Given the description of an element on the screen output the (x, y) to click on. 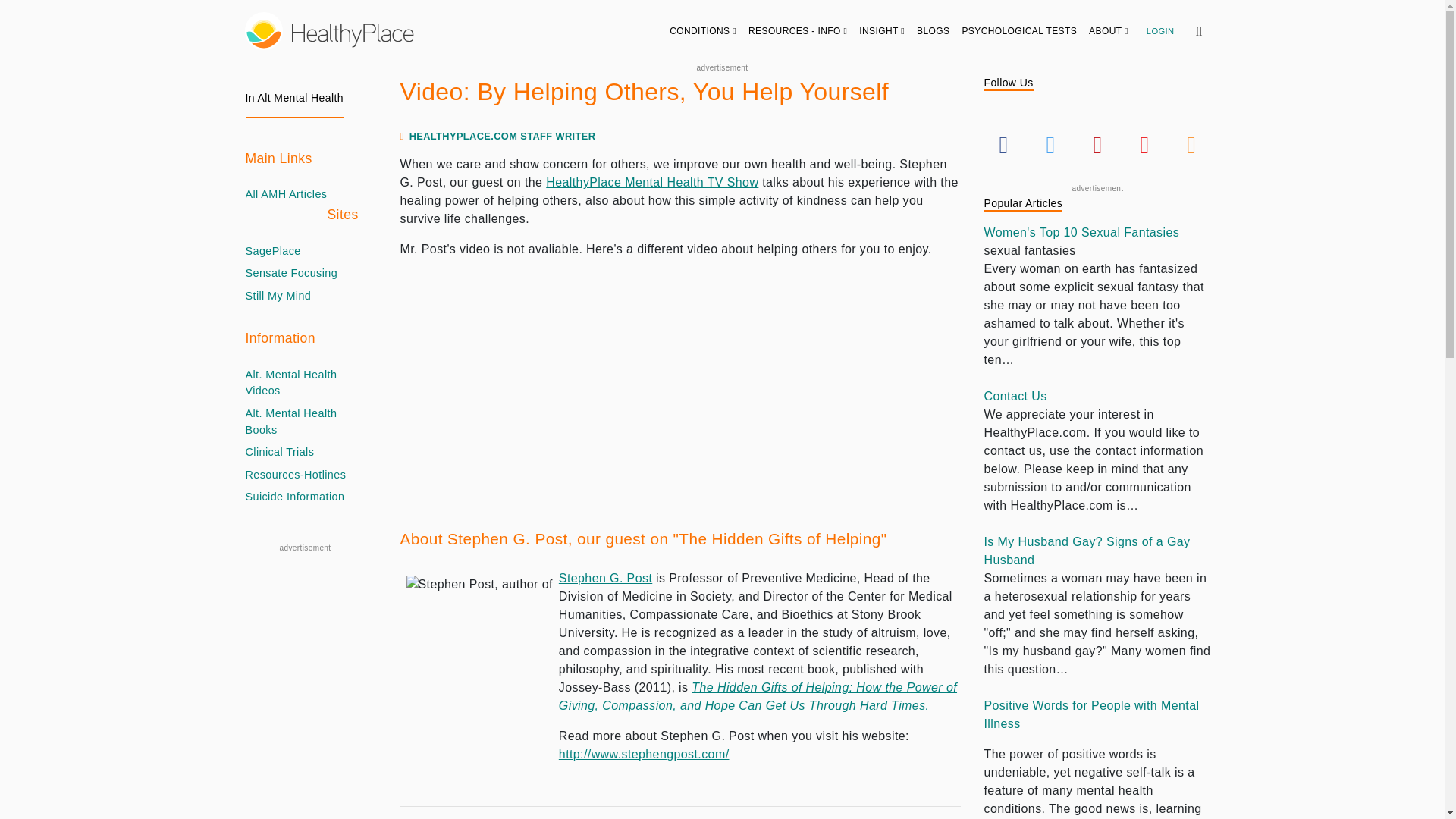
CONDITIONS (702, 31)
The Self-Healing Power of Helping Others (605, 577)
INSIGHT (882, 31)
Watch HealthyPlace Mental Health TV Show (652, 182)
RESOURCES - INFO (797, 31)
